Given the description of an element on the screen output the (x, y) to click on. 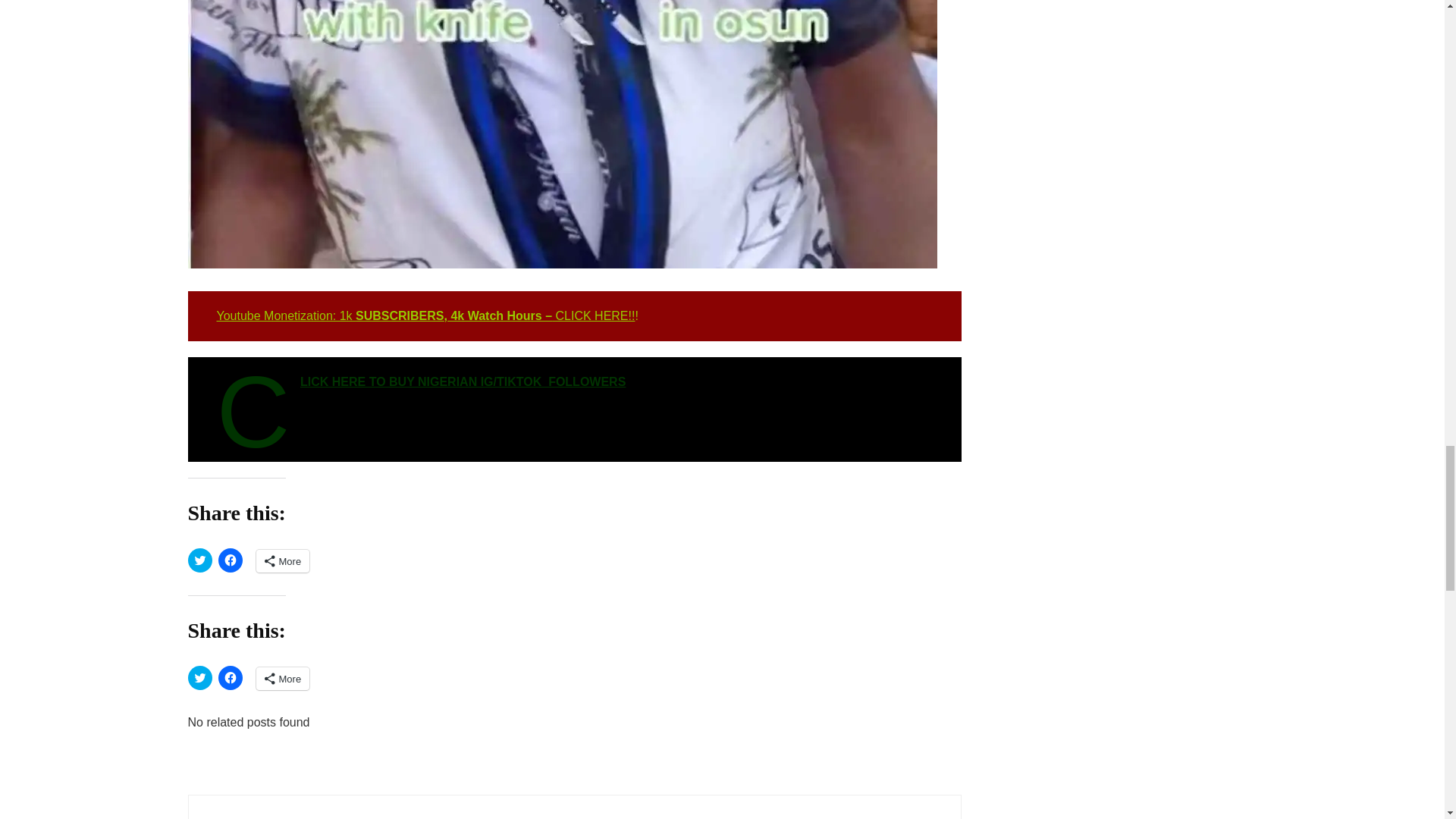
Click to share on Twitter (199, 559)
Click to share on Facebook (230, 559)
